Given the description of an element on the screen output the (x, y) to click on. 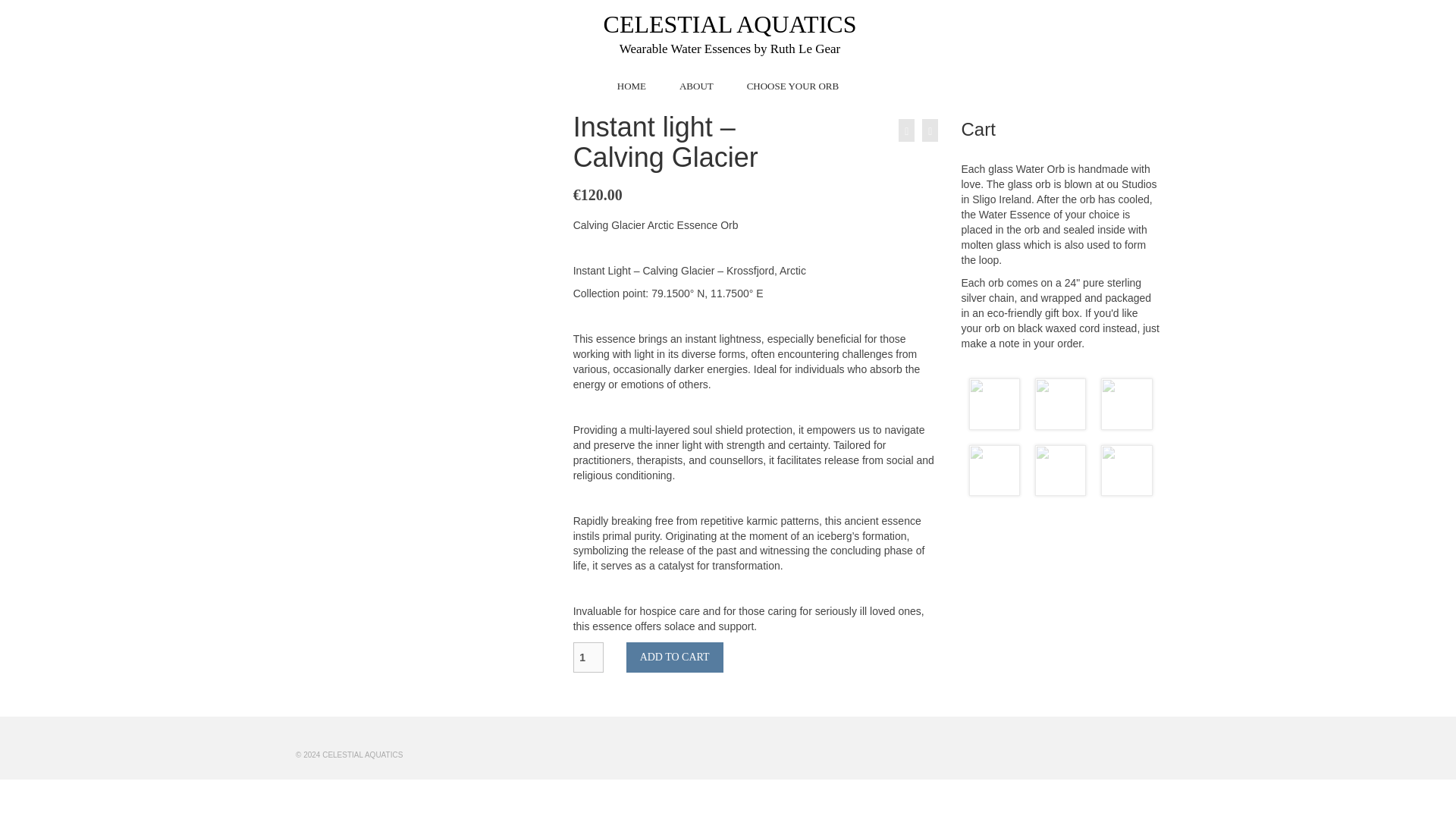
1 (588, 657)
CELESTIAL AQUATICS (730, 23)
ADD TO CART (674, 657)
CELESTIAL AQUATICS (730, 23)
HOME (631, 86)
CHOOSE YOUR ORB (793, 86)
ABOUT (696, 86)
